Given the description of an element on the screen output the (x, y) to click on. 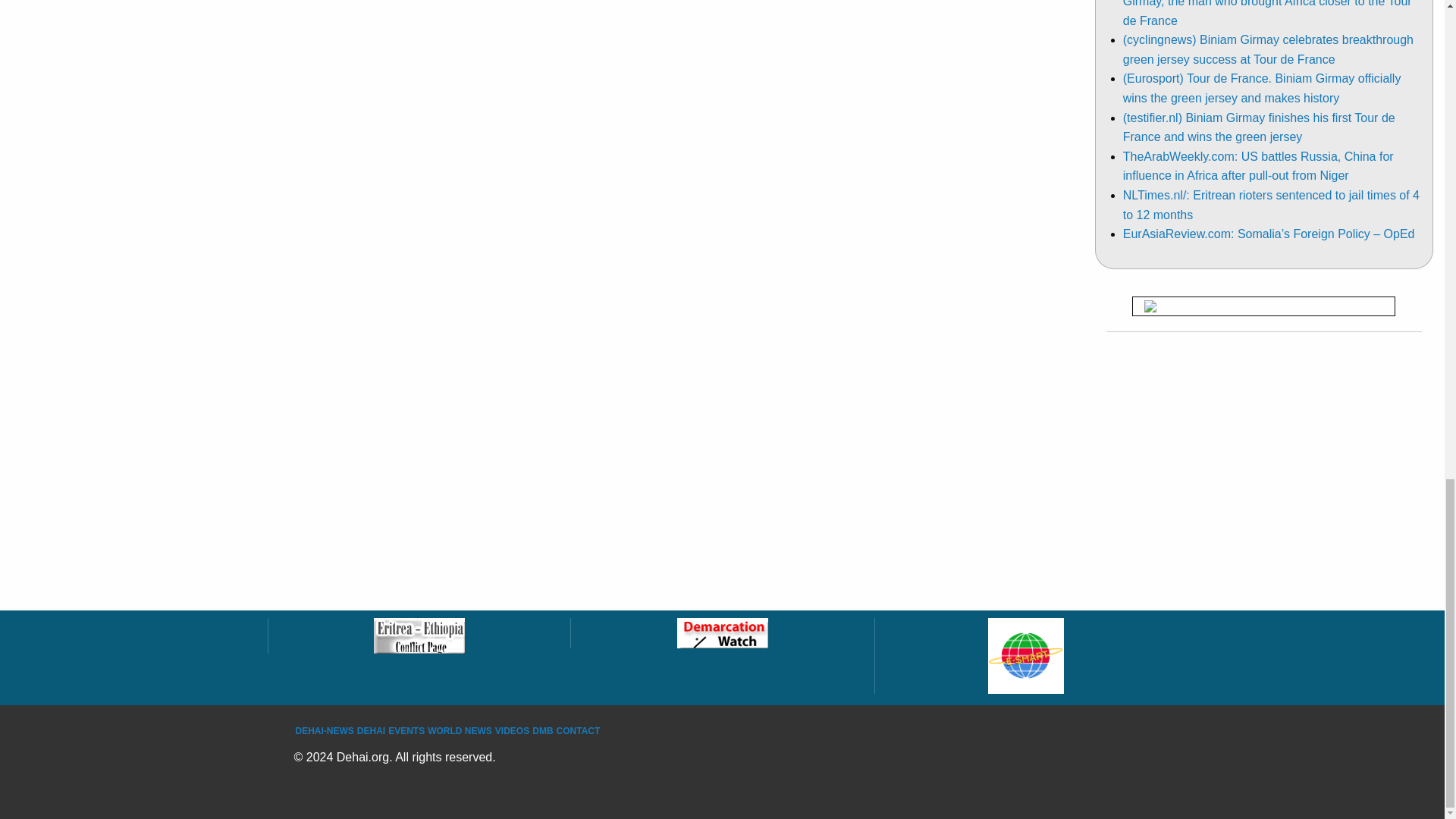
VIDEOS (512, 730)
DEHAI (370, 730)
EVENTS (406, 730)
CONTACT (577, 730)
DMB (542, 730)
WORLD NEWS (460, 730)
DEHAI-NEWS (324, 730)
